Given the description of an element on the screen output the (x, y) to click on. 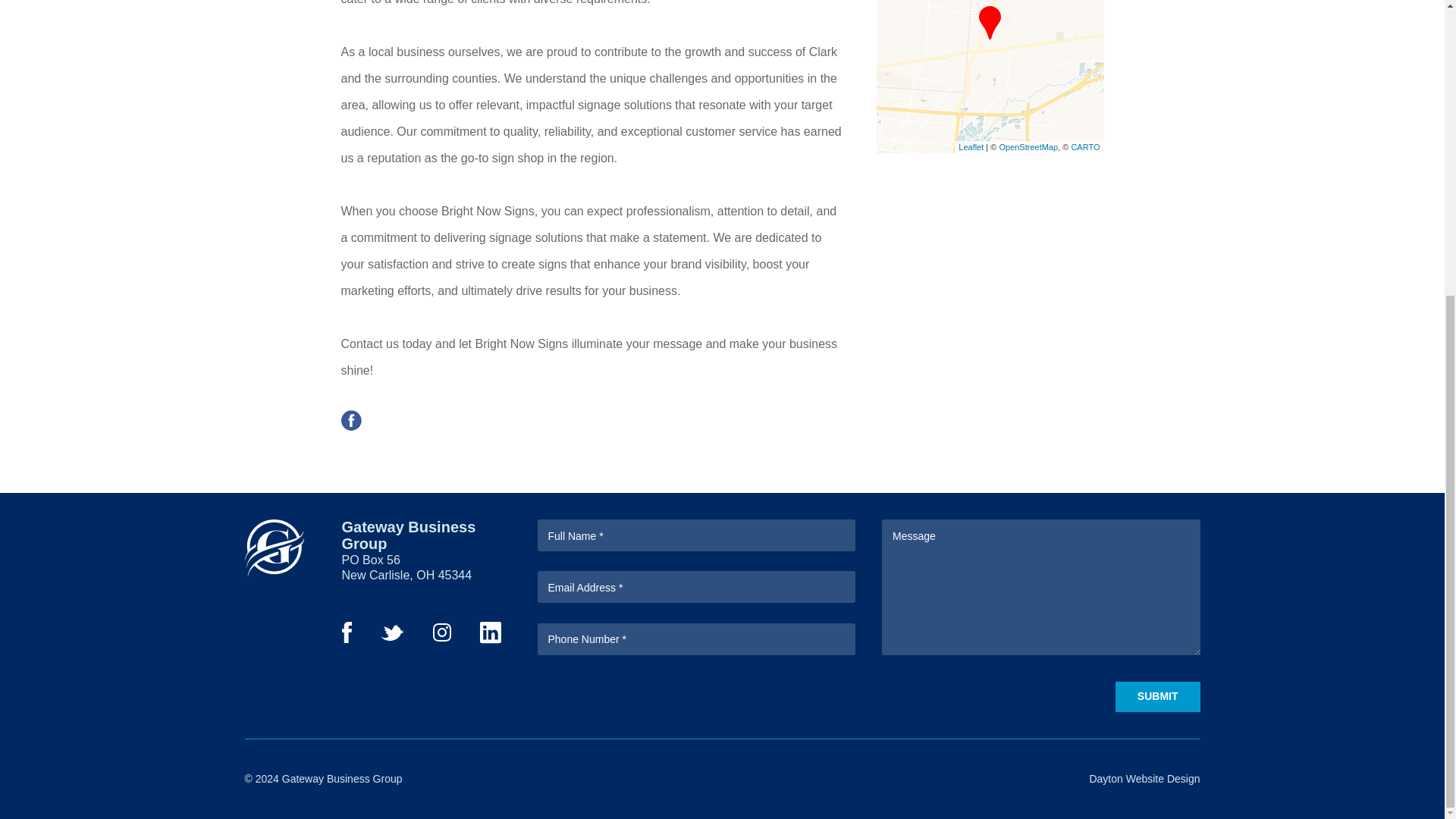
facebook (350, 426)
Leaflet (971, 145)
CARTO (1084, 145)
instagram (440, 636)
SUBMIT (1157, 696)
OpenStreetMap (1028, 145)
linkedin (489, 639)
twitter (392, 635)
A JS library for interactive maps (971, 145)
